Given the description of an element on the screen output the (x, y) to click on. 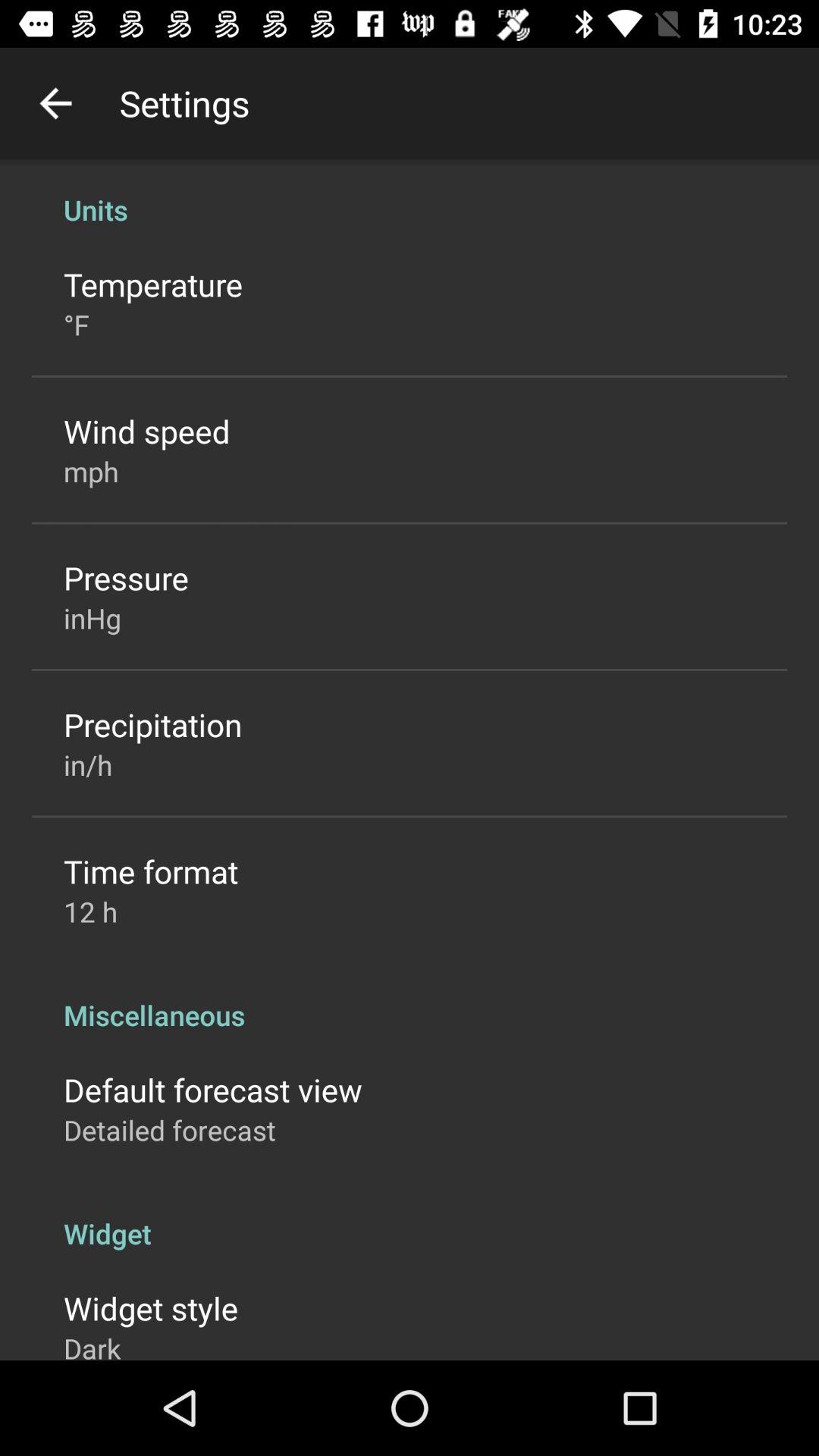
launch item above wind speed (76, 324)
